Given the description of an element on the screen output the (x, y) to click on. 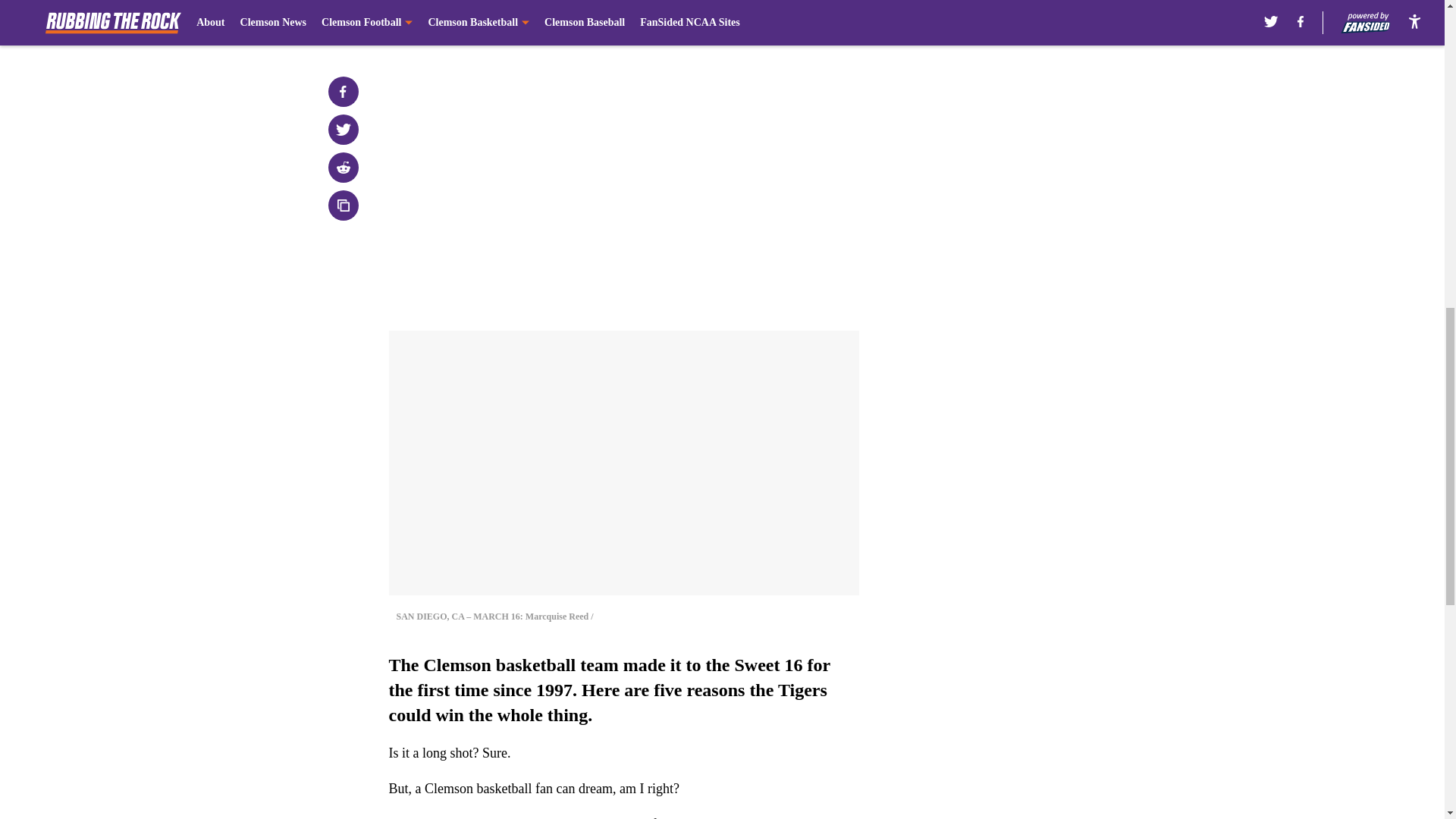
Prev (433, 20)
Next (813, 20)
